Given the description of an element on the screen output the (x, y) to click on. 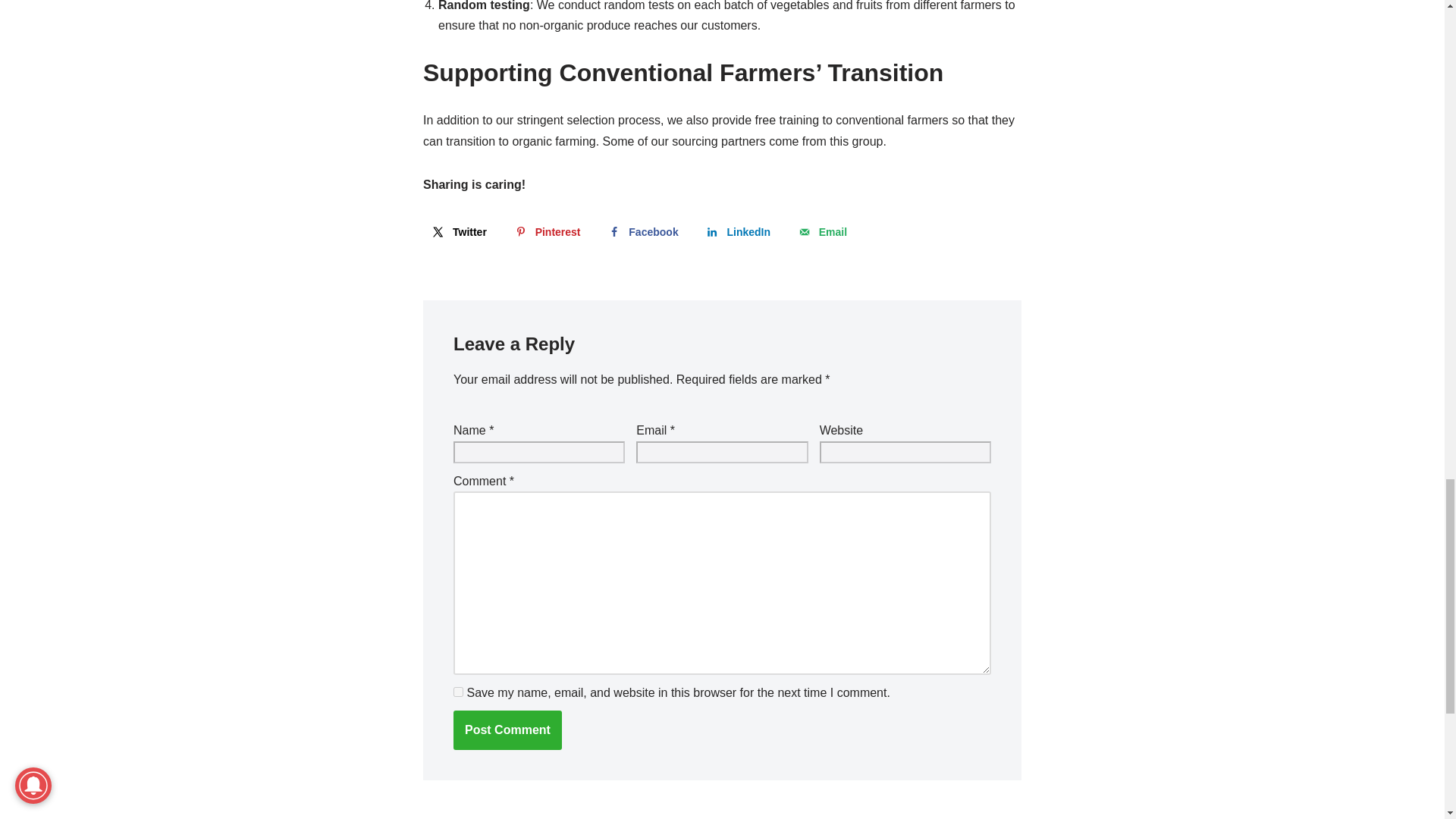
Post Comment (507, 730)
Share on X (458, 232)
Share on LinkedIn (737, 232)
yes (457, 691)
Share on Facebook (641, 232)
Save to Pinterest (546, 232)
Twitter (458, 232)
Pinterest (546, 232)
Post Comment (507, 730)
LinkedIn (737, 232)
